Given the description of an element on the screen output the (x, y) to click on. 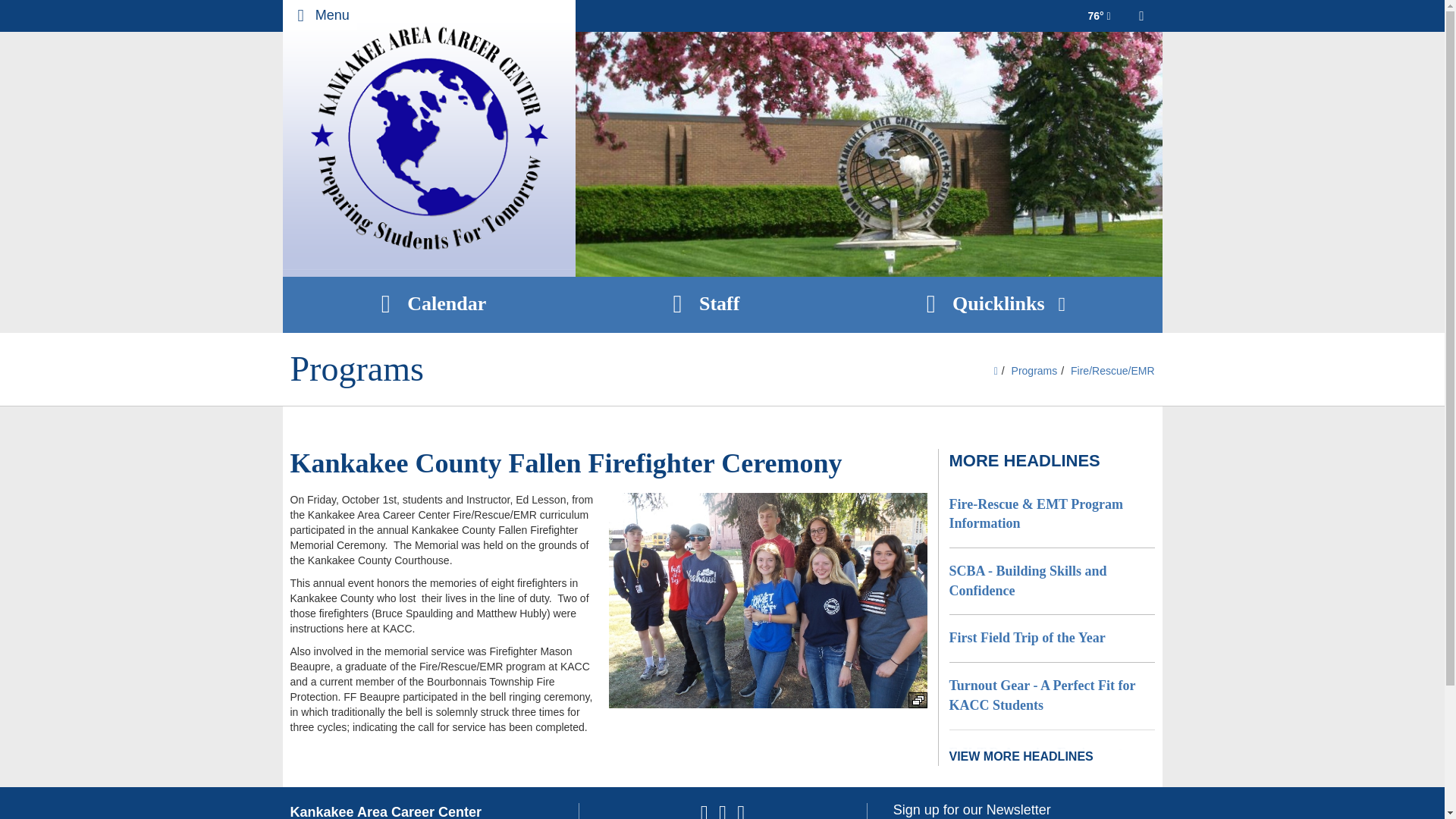
Instagram (740, 814)
Like us on Facebook (703, 814)
Follow us on Twitter (722, 814)
Sign In (1141, 15)
More images (917, 700)
Home (428, 138)
